Given the description of an element on the screen output the (x, y) to click on. 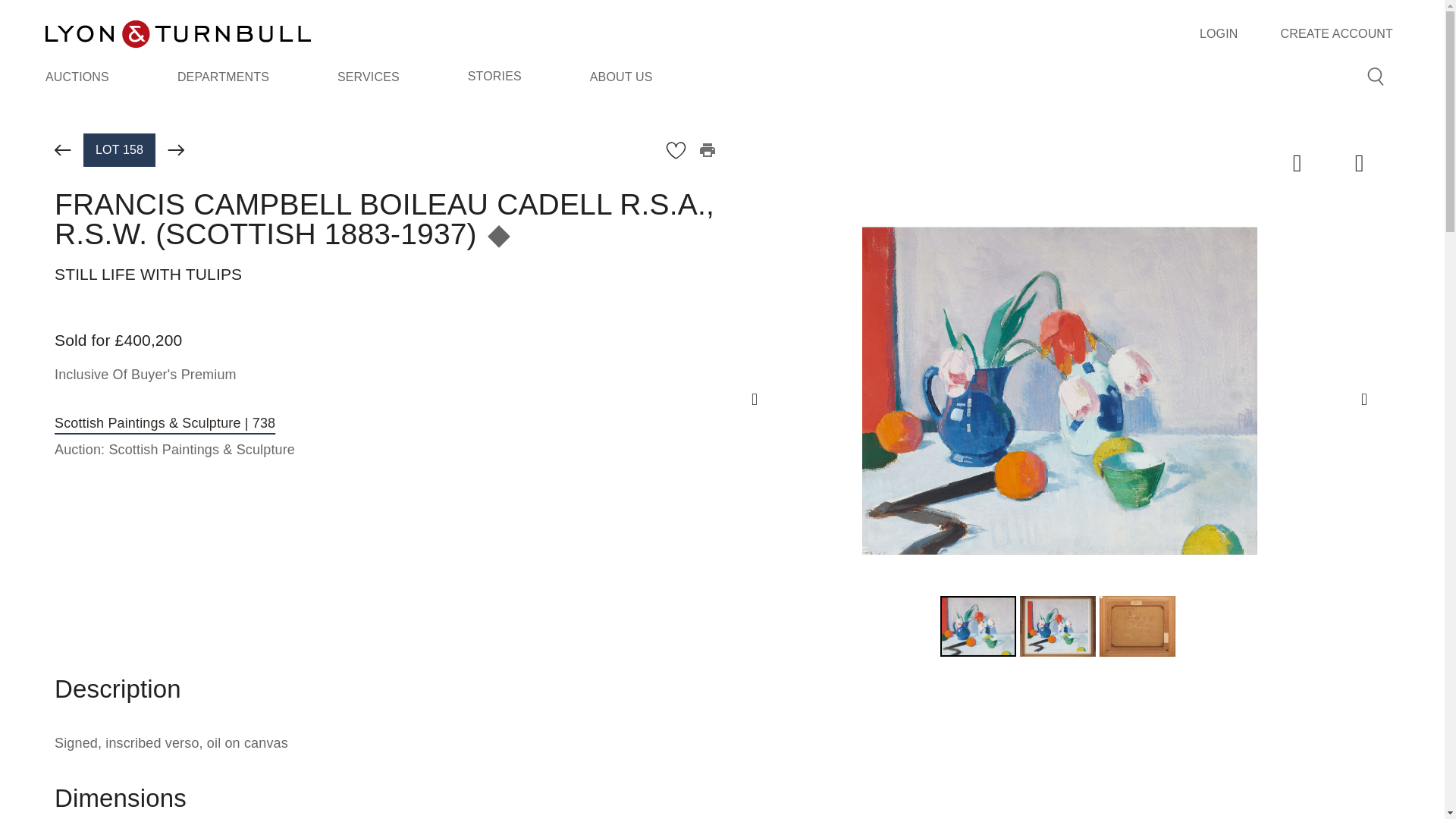
LOGIN (1218, 34)
STORIES (494, 76)
Previous Lot (63, 150)
CREATE ACCOUNT (1337, 34)
Next Lot (175, 150)
